Given the description of an element on the screen output the (x, y) to click on. 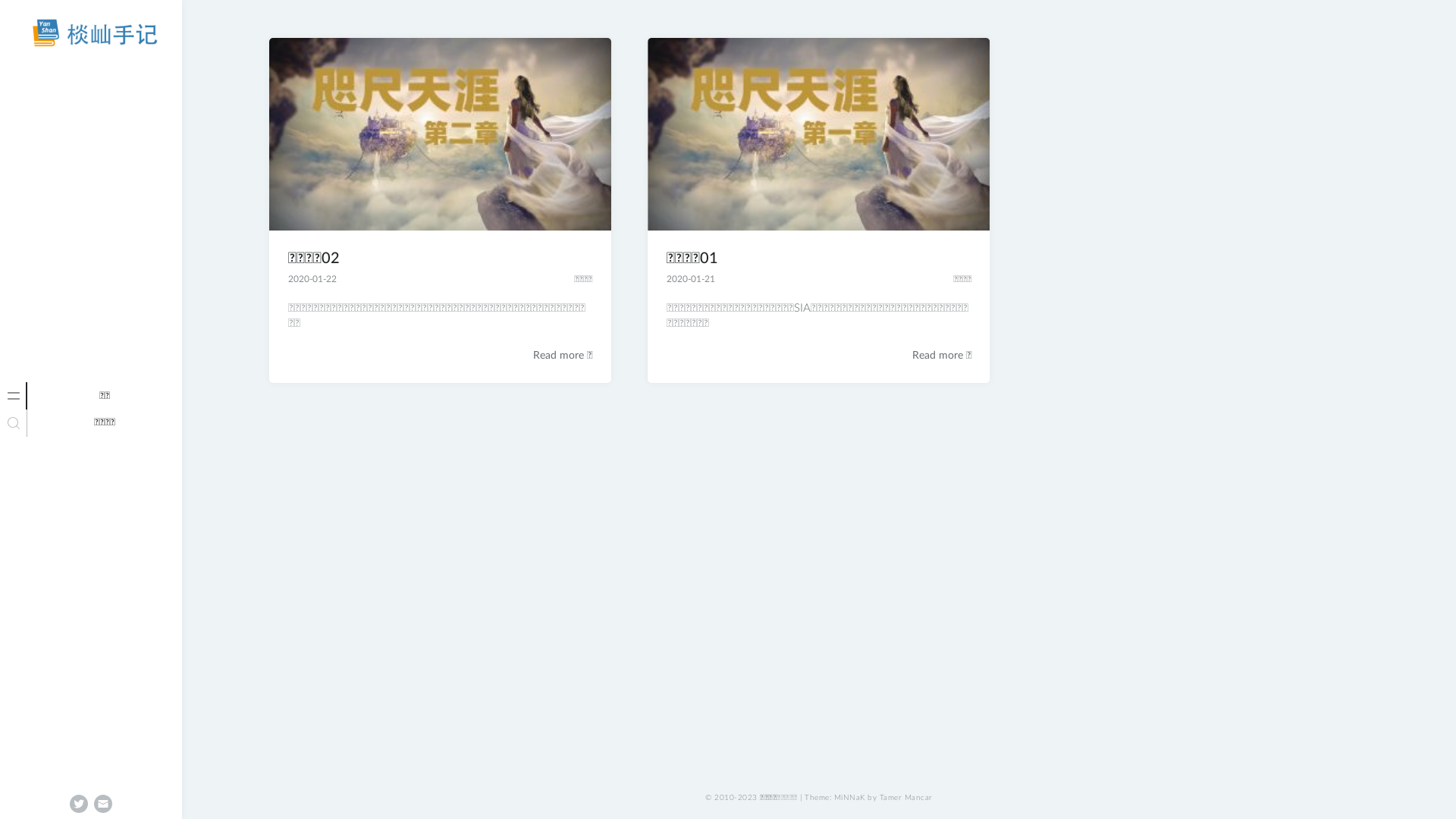
Tamer Mancar Element type: text (905, 797)
